Given the description of an element on the screen output the (x, y) to click on. 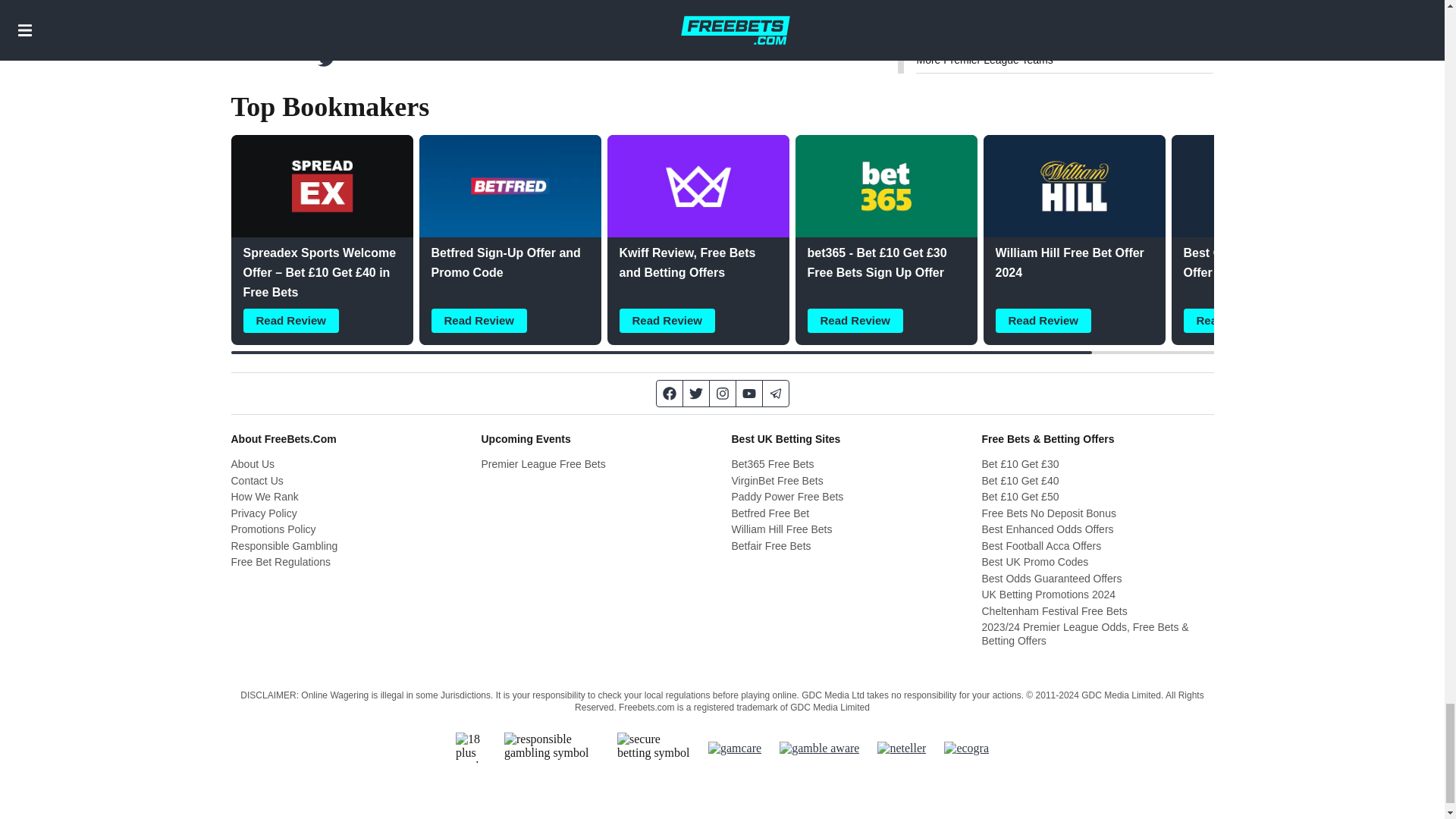
Telegram (775, 393)
Youtube page (748, 393)
Instagram page (723, 393)
Twitter feed (695, 393)
Facebook page (669, 393)
